Given the description of an element on the screen output the (x, y) to click on. 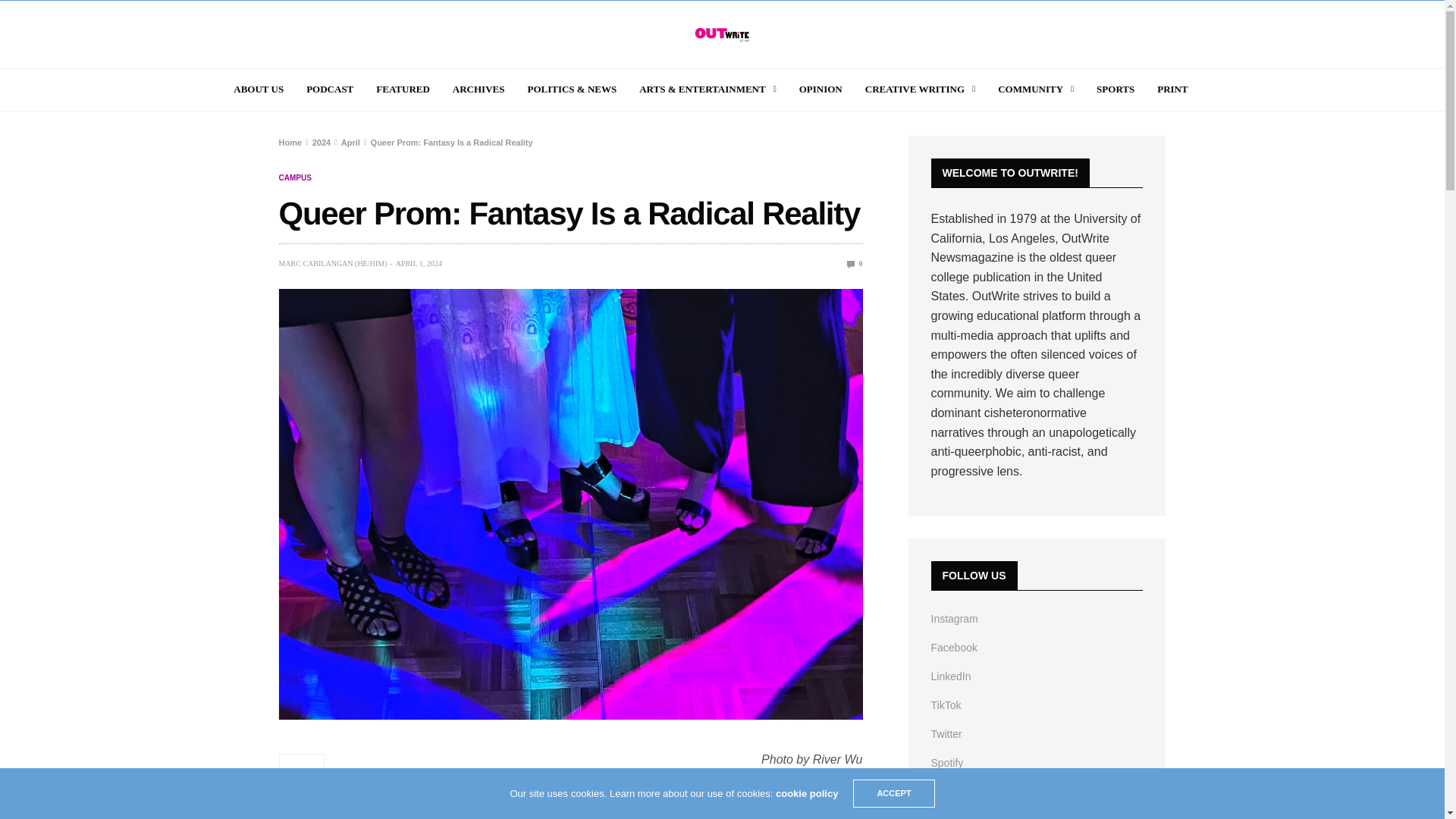
Home (290, 142)
Campus (295, 177)
CREATIVE WRITING (919, 89)
April (349, 142)
PODCAST (329, 89)
Queer Prom: Fantasy Is a Radical Reality (855, 263)
CAMPUS (295, 177)
PRINT (1172, 89)
FEATURED (402, 89)
SPORTS (1115, 89)
ARCHIVES (478, 89)
2024 (321, 142)
OPINION (821, 89)
ABOUT US (257, 89)
COMMUNITY (1035, 89)
